Given the description of an element on the screen output the (x, y) to click on. 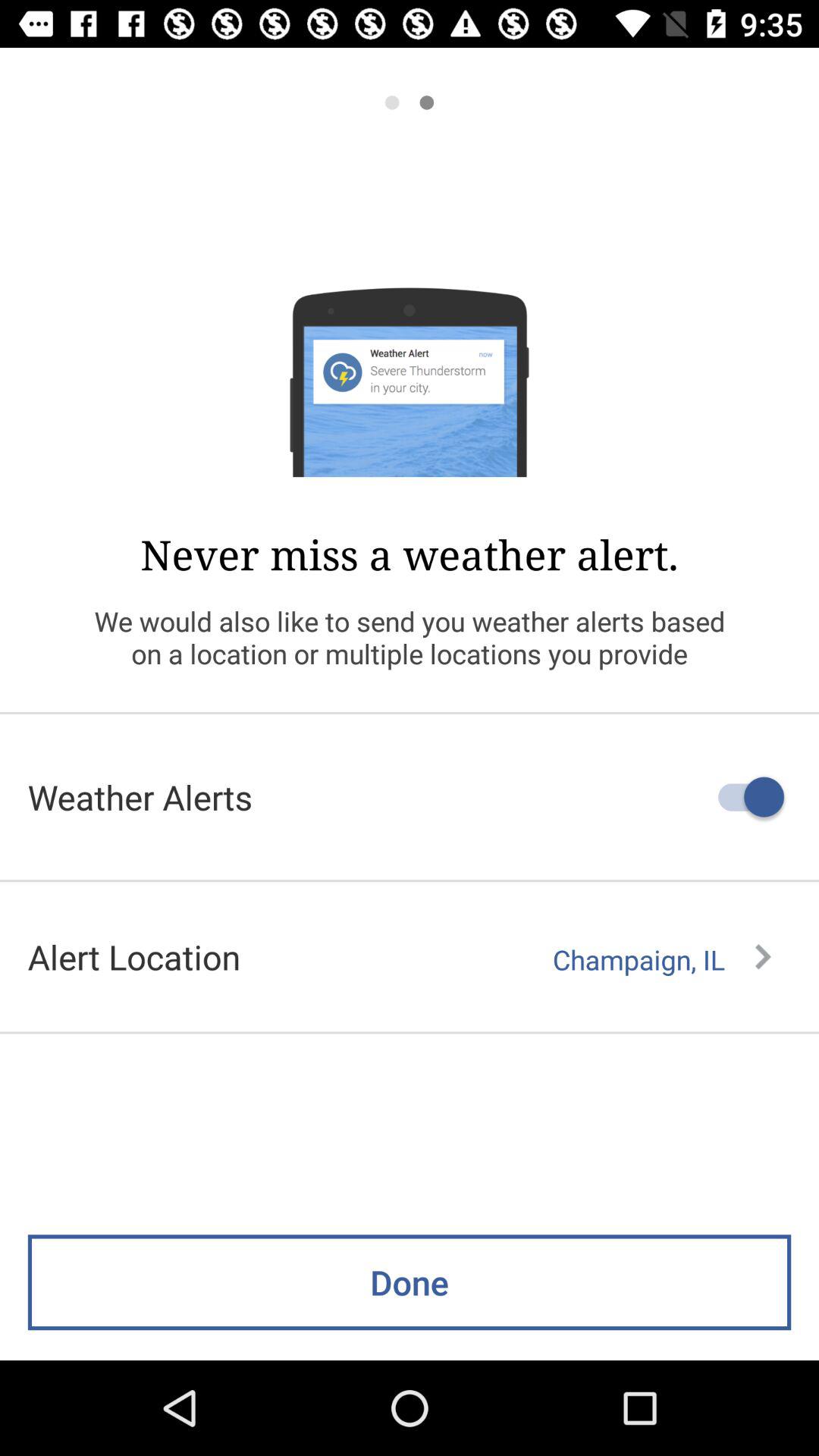
tap the icon next to the alert location (661, 959)
